Given the description of an element on the screen output the (x, y) to click on. 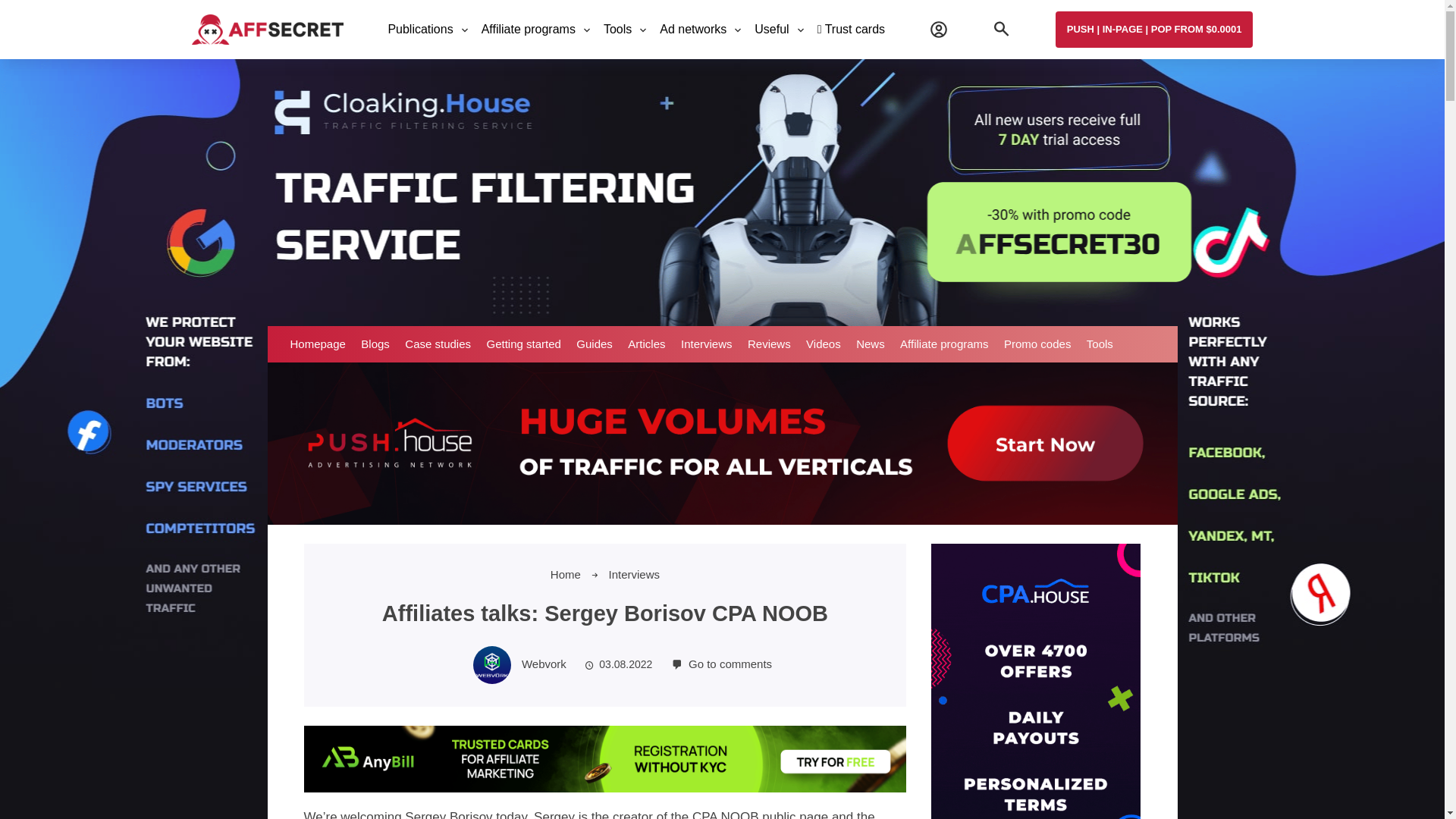
Ad networks (692, 30)
Publications (419, 30)
Useful (771, 30)
Tools (617, 30)
Affiliate programs (528, 30)
